Given the description of an element on the screen output the (x, y) to click on. 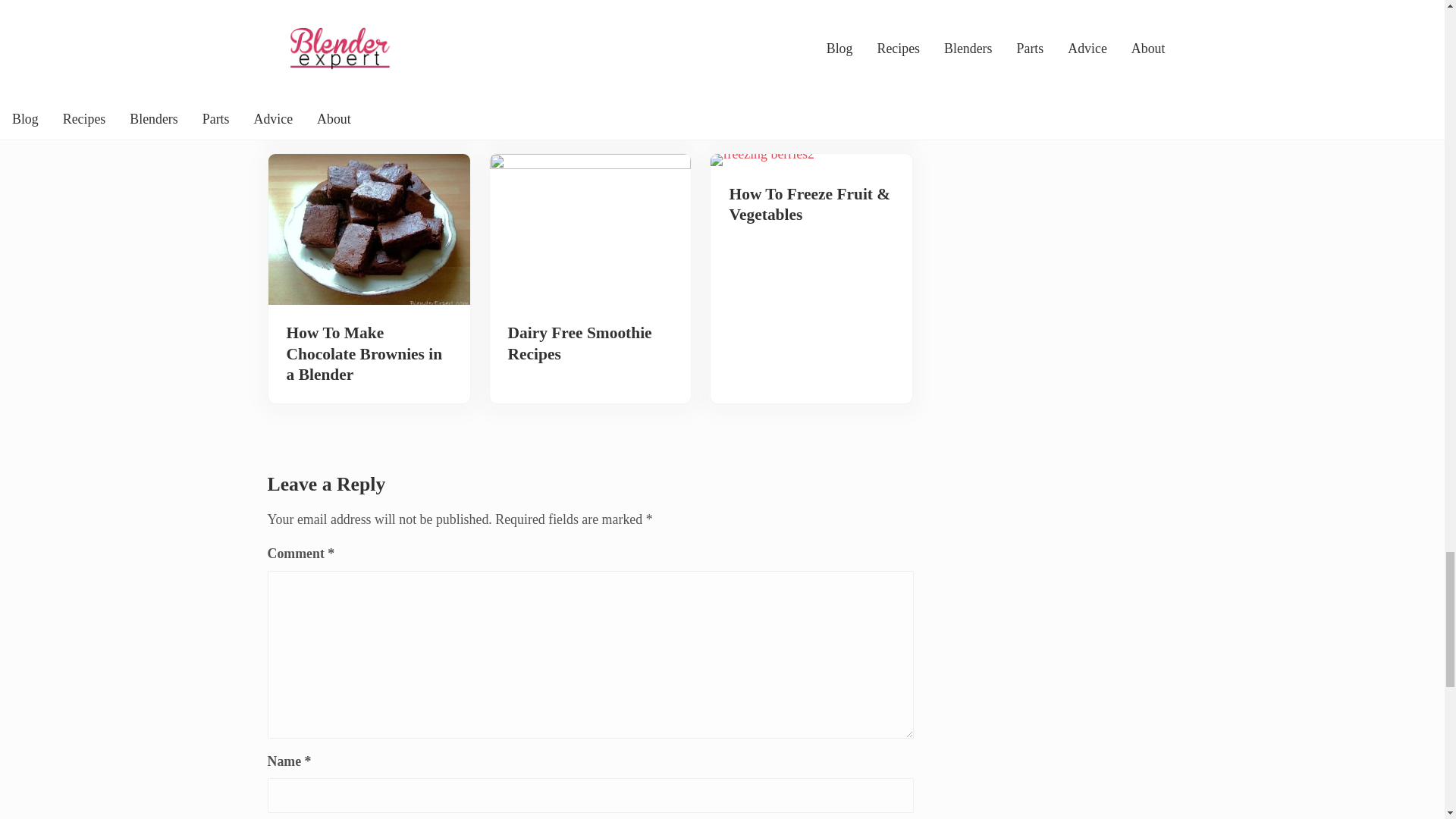
Weight Loss Smoothie Recipes that Taste Great too (590, 85)
What To Put In A Basic Smoothie Recipe (368, 74)
